Given the description of an element on the screen output the (x, y) to click on. 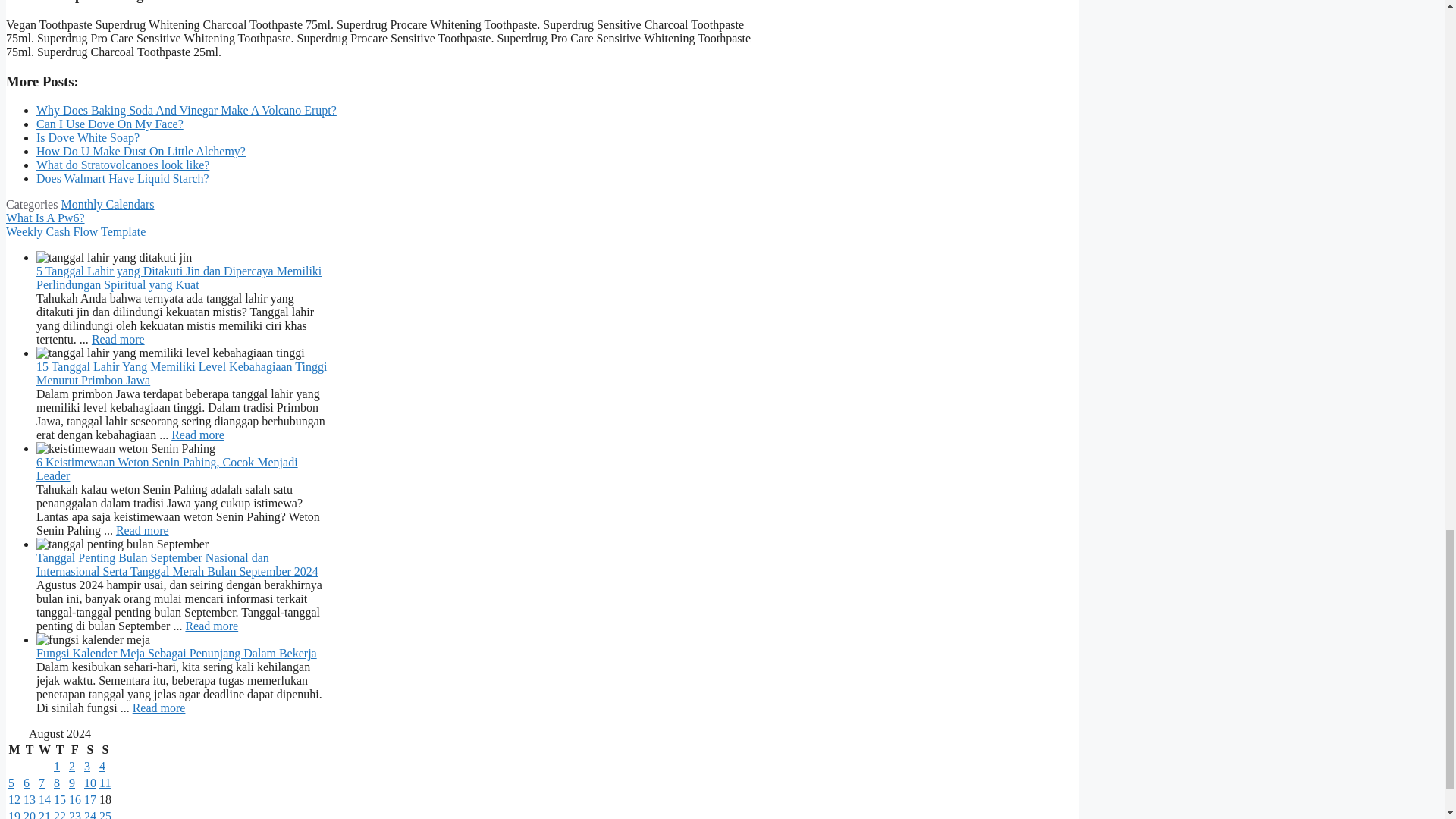
6 Keistimewaan Weton Senin Pahing, Cocok Menjadi Leader (142, 530)
Monday (14, 749)
Can I Use Dove On My Face? (109, 123)
How Do U Make Dust On Little Alchemy? (141, 151)
Tuesday (29, 749)
Wednesday (43, 749)
Thursday (59, 749)
Fungsi Kalender Meja Sebagai Penunjang Dalam Bekerja (159, 707)
Is Dove White Soap? (87, 137)
